Given the description of an element on the screen output the (x, y) to click on. 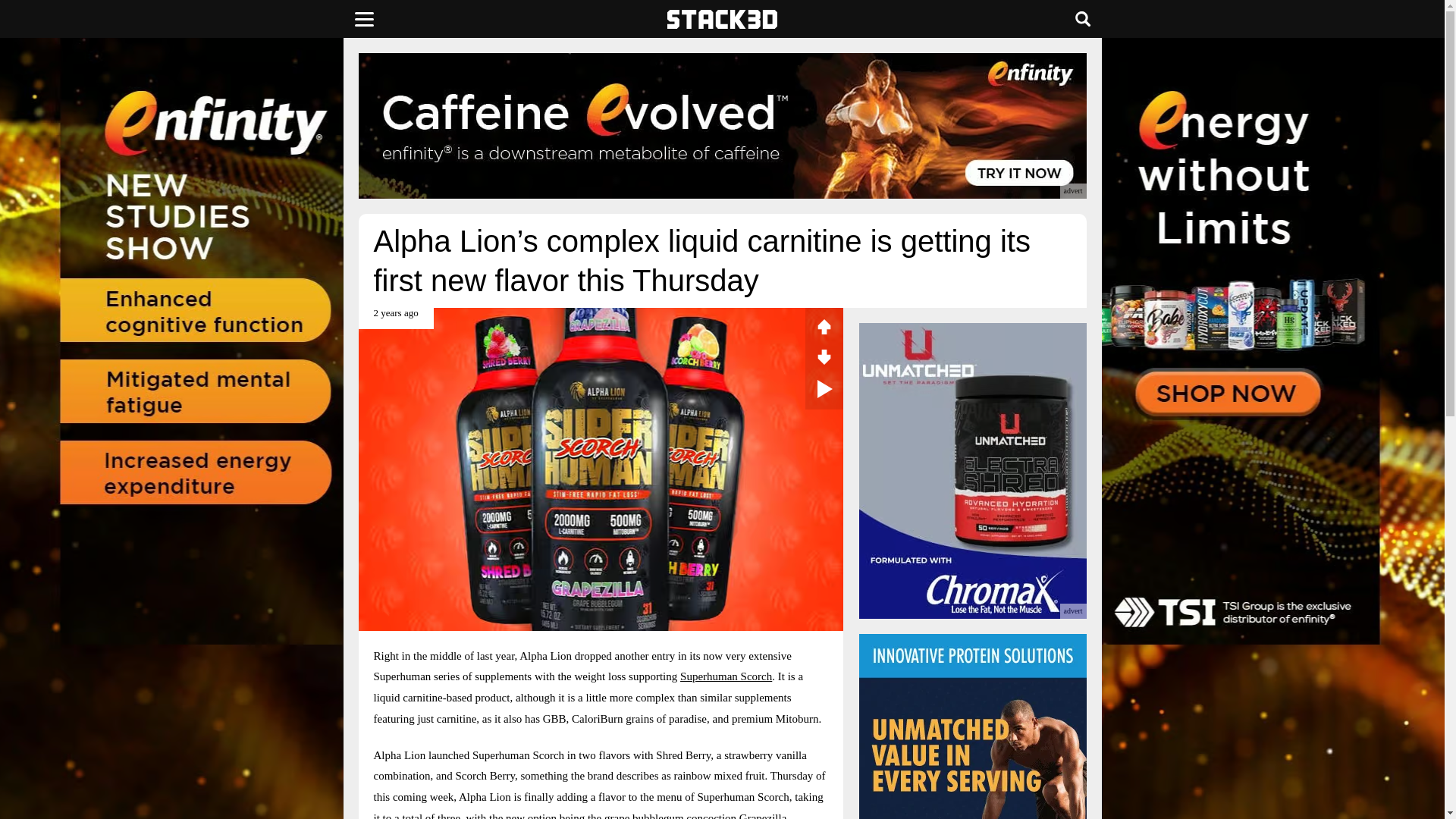
Superhuman Scorch (725, 676)
February 20th 2022 (395, 318)
